Given the description of an element on the screen output the (x, y) to click on. 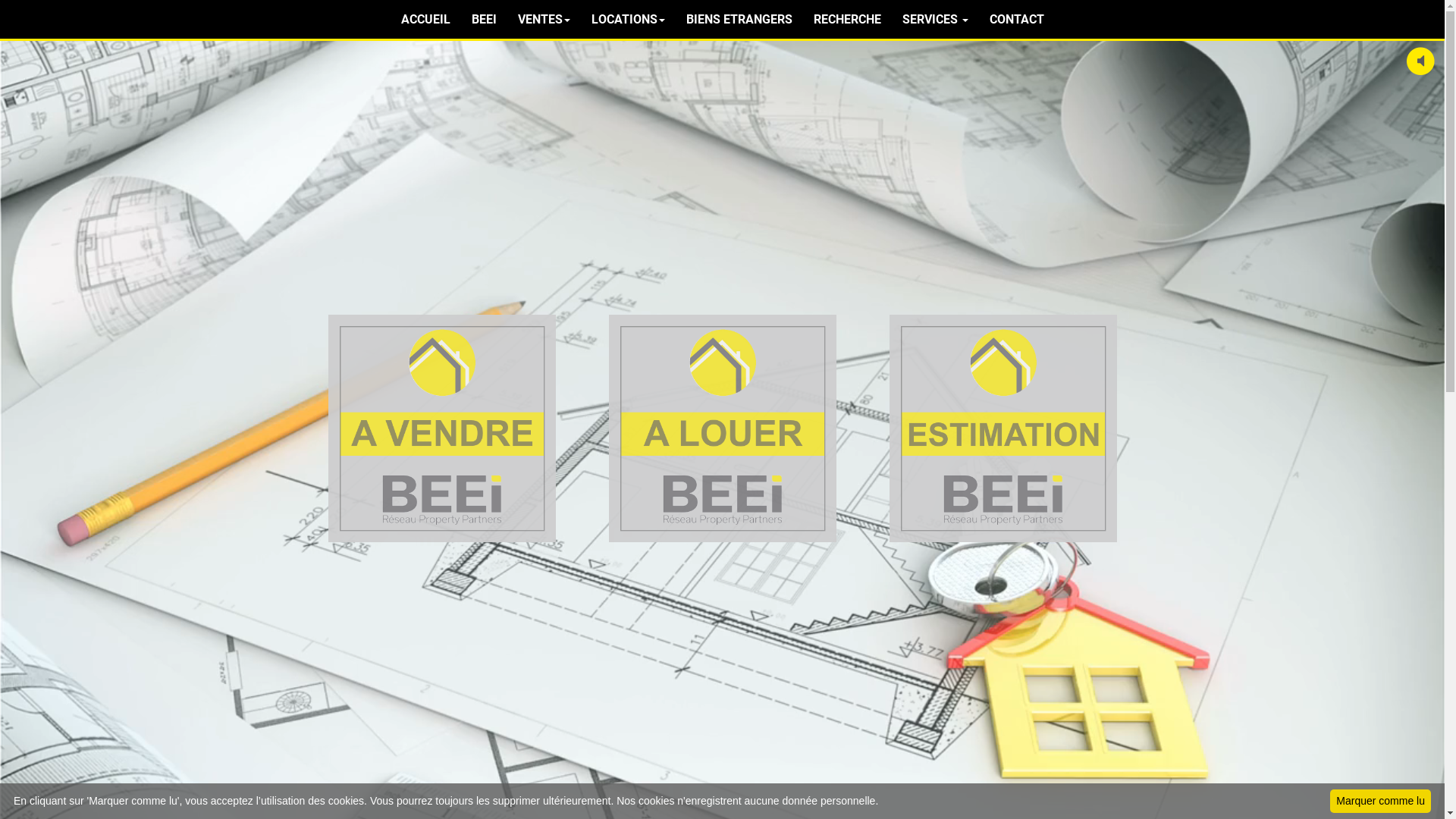
CONTACT Element type: text (1016, 19)
ACCUEIL Element type: text (424, 19)
BIENS ETRANGERS Element type: text (738, 19)
RECHERCHE Element type: text (846, 19)
LOCATIONS Element type: text (627, 19)
SERVICES Element type: text (935, 19)
BEEI Element type: text (484, 19)
VENTES Element type: text (543, 19)
